Given the description of an element on the screen output the (x, y) to click on. 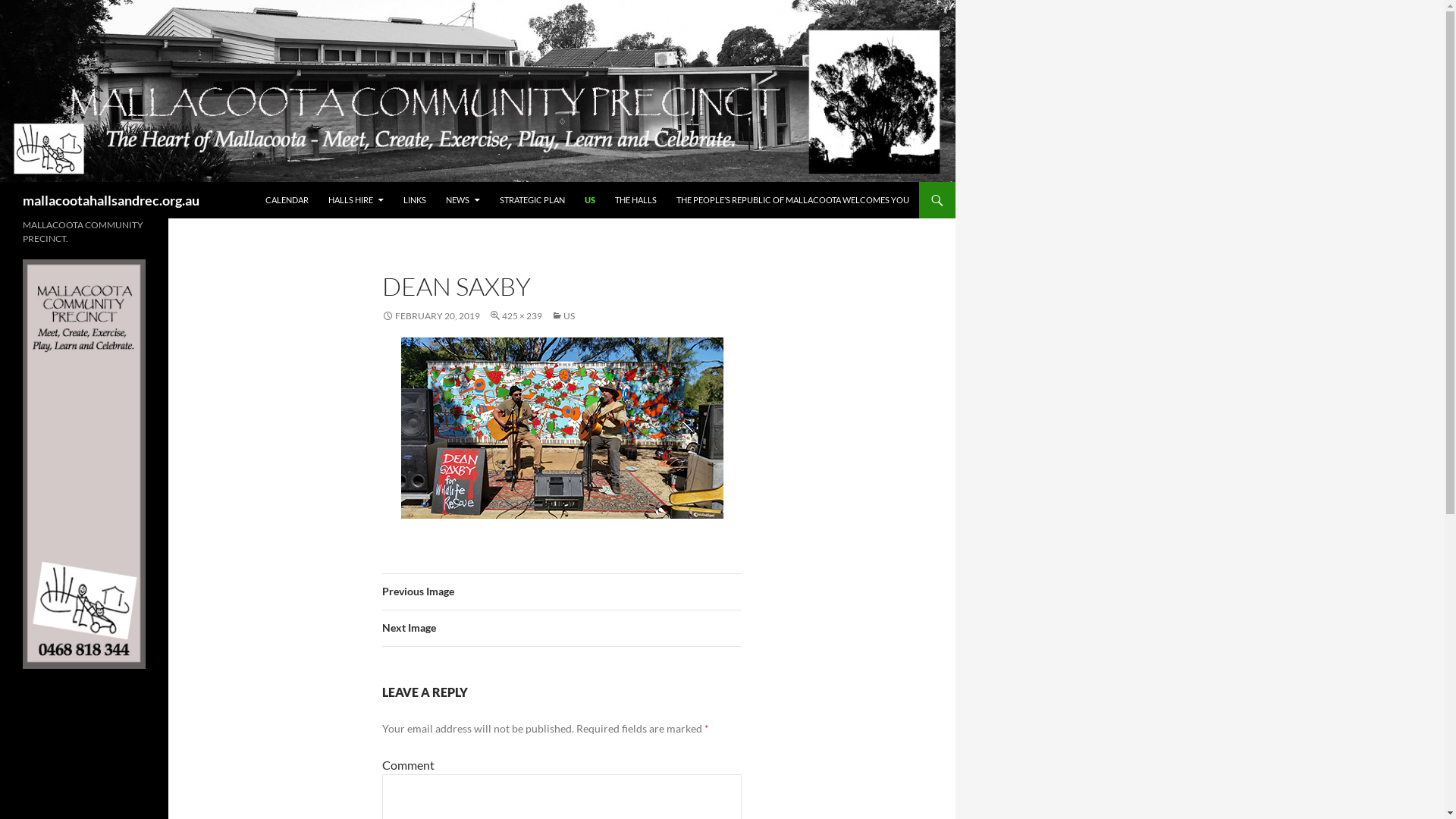
THE HALLS Element type: text (635, 200)
STRATEGIC PLAN Element type: text (532, 200)
SKIP TO CONTENT Element type: text (265, 182)
mallacootahallsandrec.org.au Element type: text (110, 200)
US Element type: text (562, 315)
NEWS Element type: text (462, 200)
Search Element type: text (3, 182)
US Element type: text (589, 200)
HALLS HIRE Element type: text (355, 200)
Previous Image Element type: text (561, 592)
CALENDAR Element type: text (286, 200)
Next Image Element type: text (561, 628)
LINKS Element type: text (414, 200)
